Given the description of an element on the screen output the (x, y) to click on. 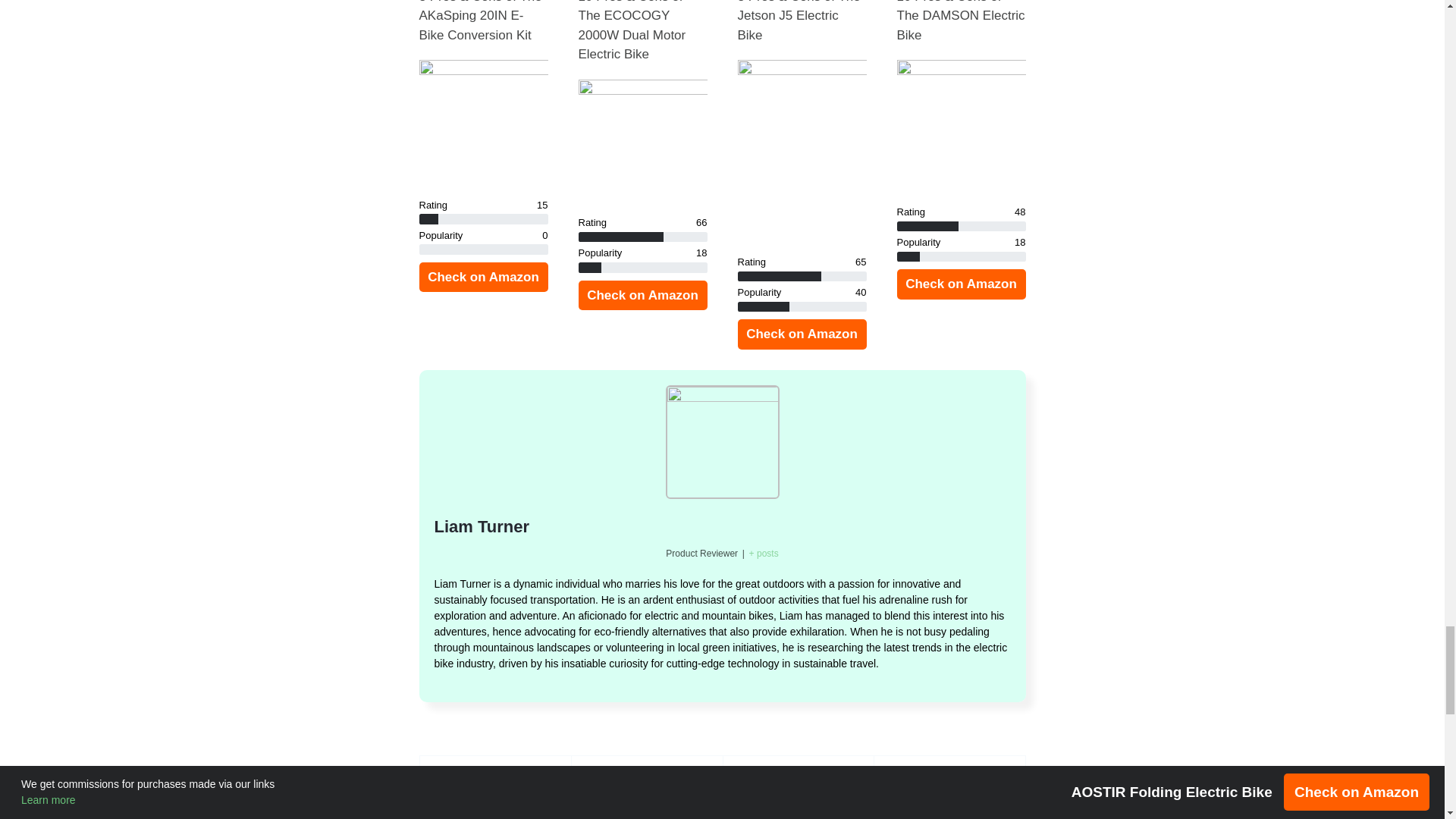
Check on Amazon (483, 277)
Check on Amazon (960, 284)
Check on Amazon (642, 295)
Check on Amazon (801, 334)
